Given the description of an element on the screen output the (x, y) to click on. 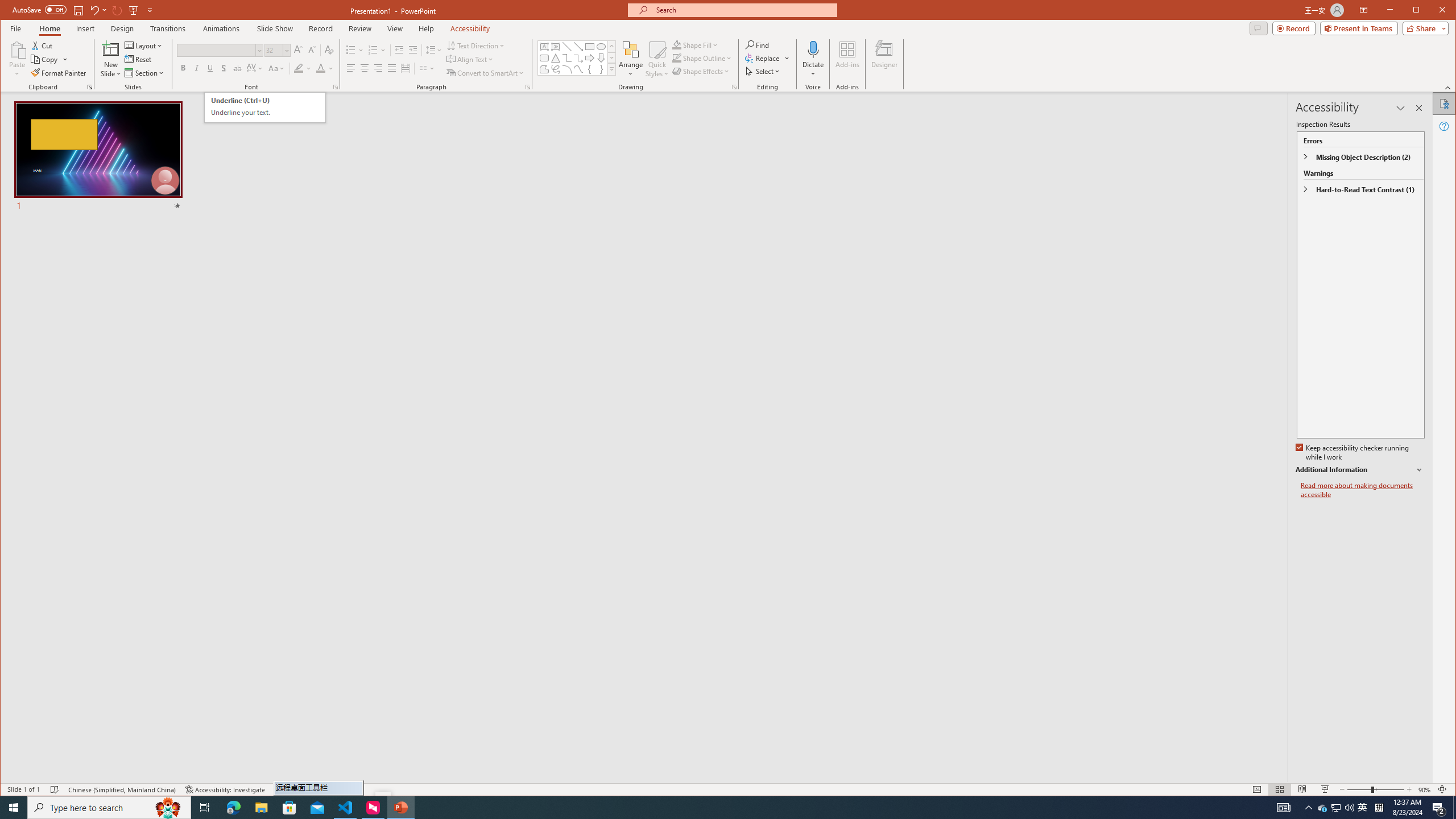
Zoom 90% (1424, 789)
